Given the description of an element on the screen output the (x, y) to click on. 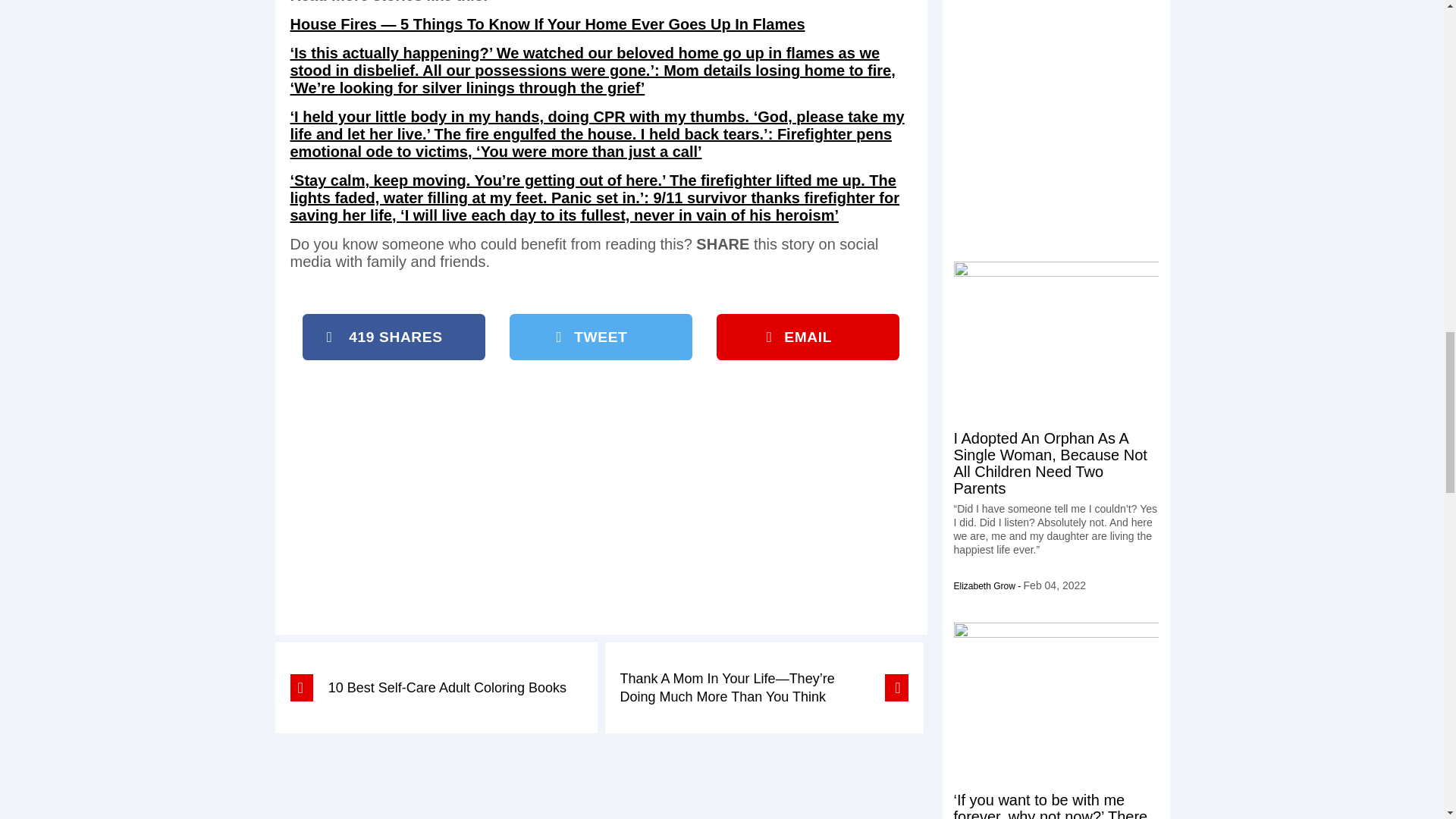
February 4, 2022 (1054, 585)
